Given the description of an element on the screen output the (x, y) to click on. 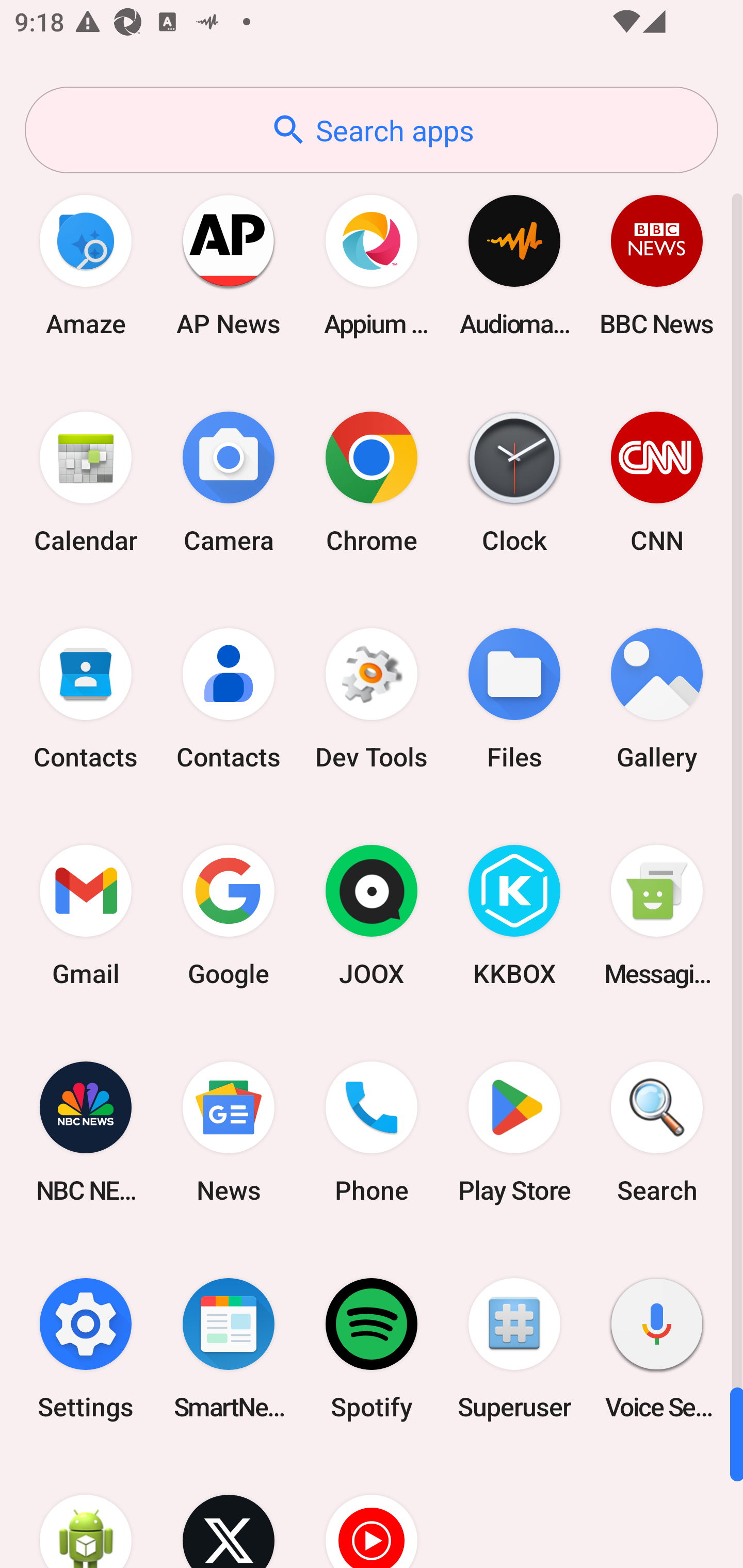
  Search apps (371, 130)
Amaze (85, 264)
AP News (228, 264)
Appium Settings (371, 264)
Audio­mack (514, 264)
BBC News (656, 264)
Calendar (85, 482)
Camera (228, 482)
Chrome (371, 482)
Clock (514, 482)
CNN (656, 482)
Contacts (85, 699)
Contacts (228, 699)
Dev Tools (371, 699)
Files (514, 699)
Gallery (656, 699)
Gmail (85, 915)
Google (228, 915)
JOOX (371, 915)
KKBOX (514, 915)
Messaging (656, 915)
NBC NEWS (85, 1131)
News (228, 1131)
Phone (371, 1131)
Play Store (514, 1131)
Search (656, 1131)
Settings (85, 1348)
SmartNews (228, 1348)
Spotify (371, 1348)
Superuser (514, 1348)
Voice Search (656, 1348)
